Given the description of an element on the screen output the (x, y) to click on. 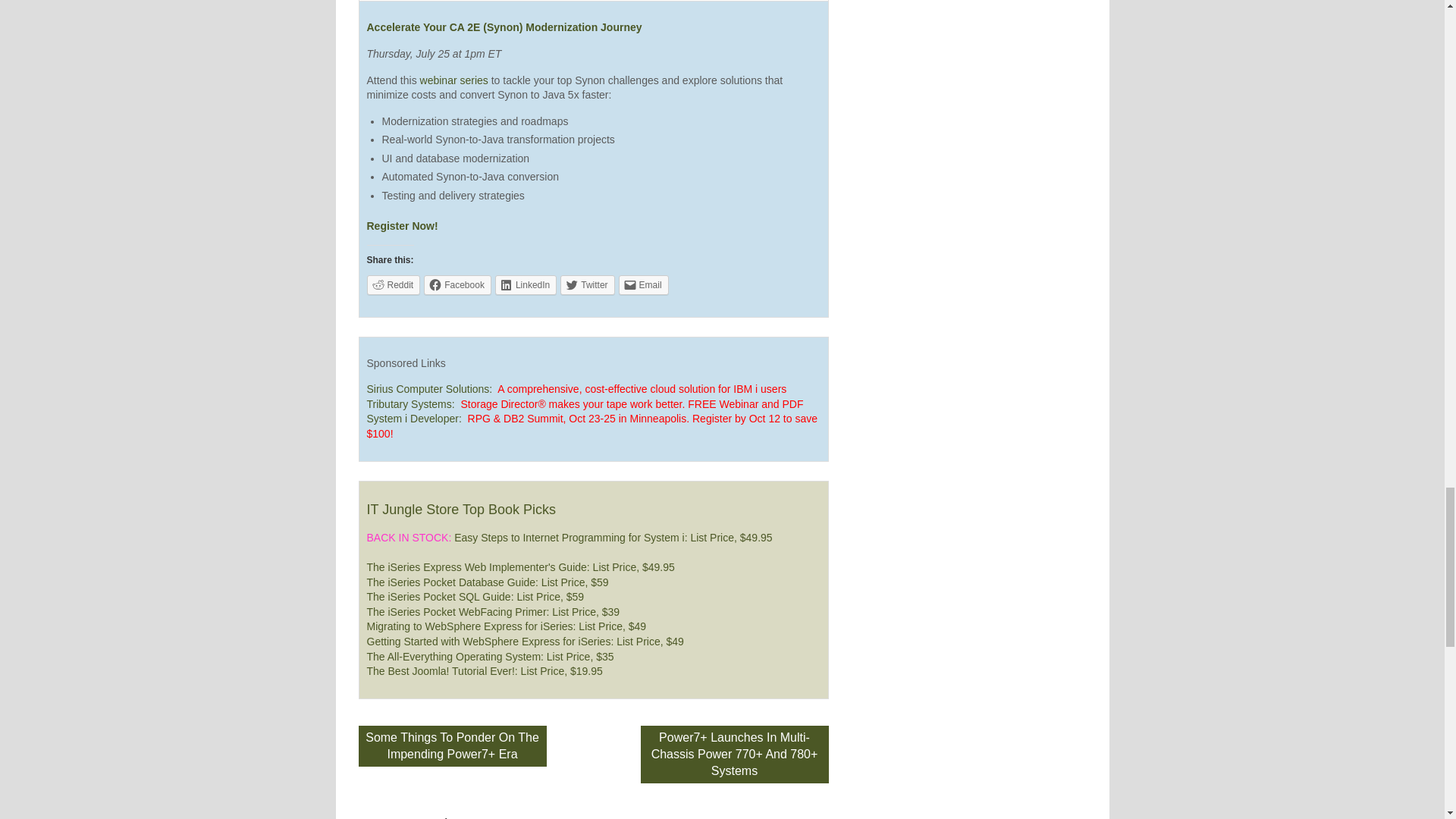
webinar series (453, 80)
Facebook (457, 284)
Click to share on Reddit (393, 284)
Click to share on Facebook (457, 284)
Email (643, 284)
IT Jungle Store Top Book Picks (461, 509)
Click to share on Twitter (587, 284)
Reddit (393, 284)
Click to email a link to a friend (643, 284)
